Given the description of an element on the screen output the (x, y) to click on. 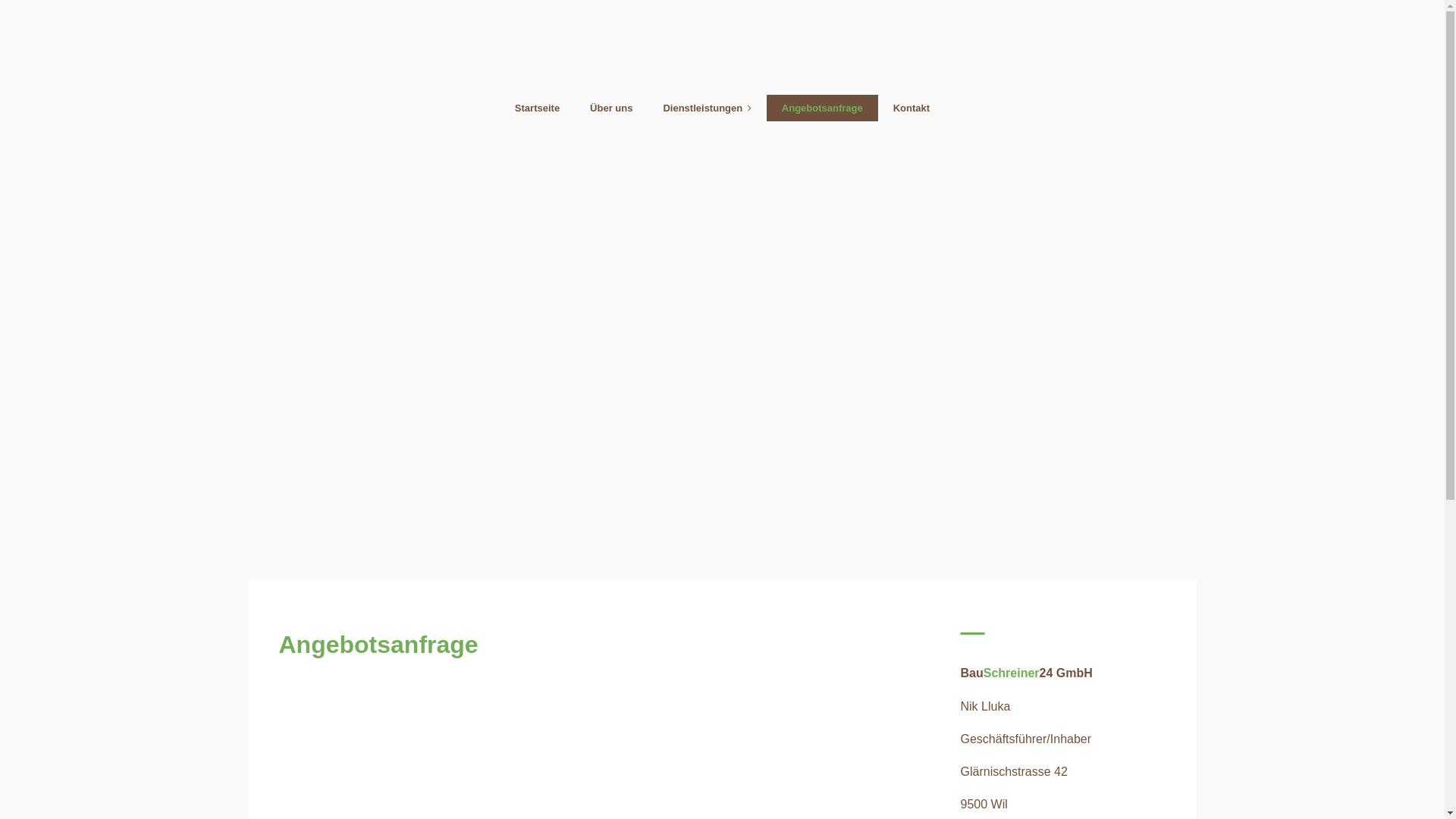
Kontakt Element type: text (911, 107)
Dienstleistungen Element type: text (706, 107)
Angebotsanfrage Element type: text (822, 107)
Startseite Element type: text (536, 107)
